Given the description of an element on the screen output the (x, y) to click on. 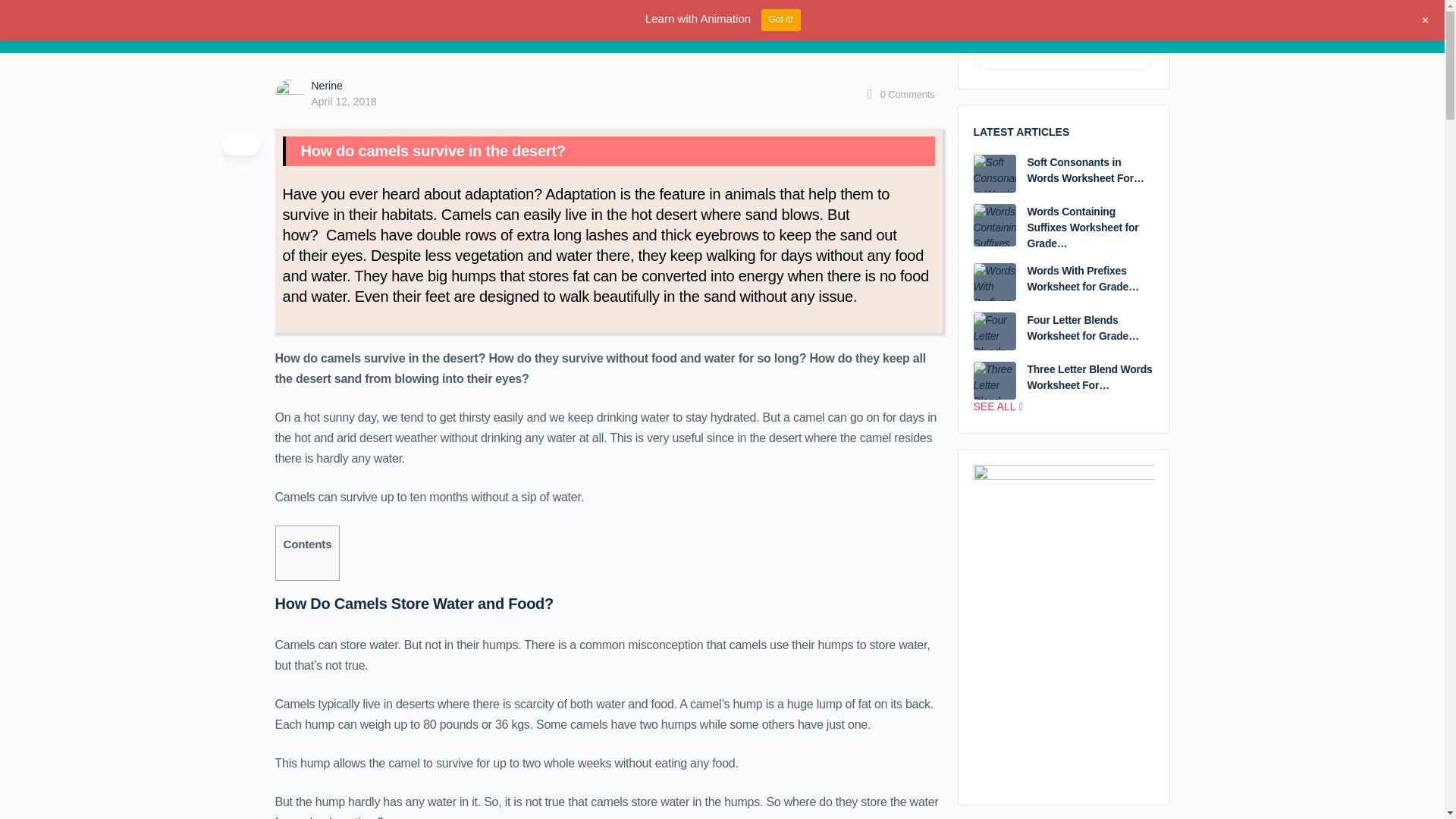
Sign in (1144, 26)
Community (346, 26)
FREE Worksheets (429, 26)
